Given the description of an element on the screen output the (x, y) to click on. 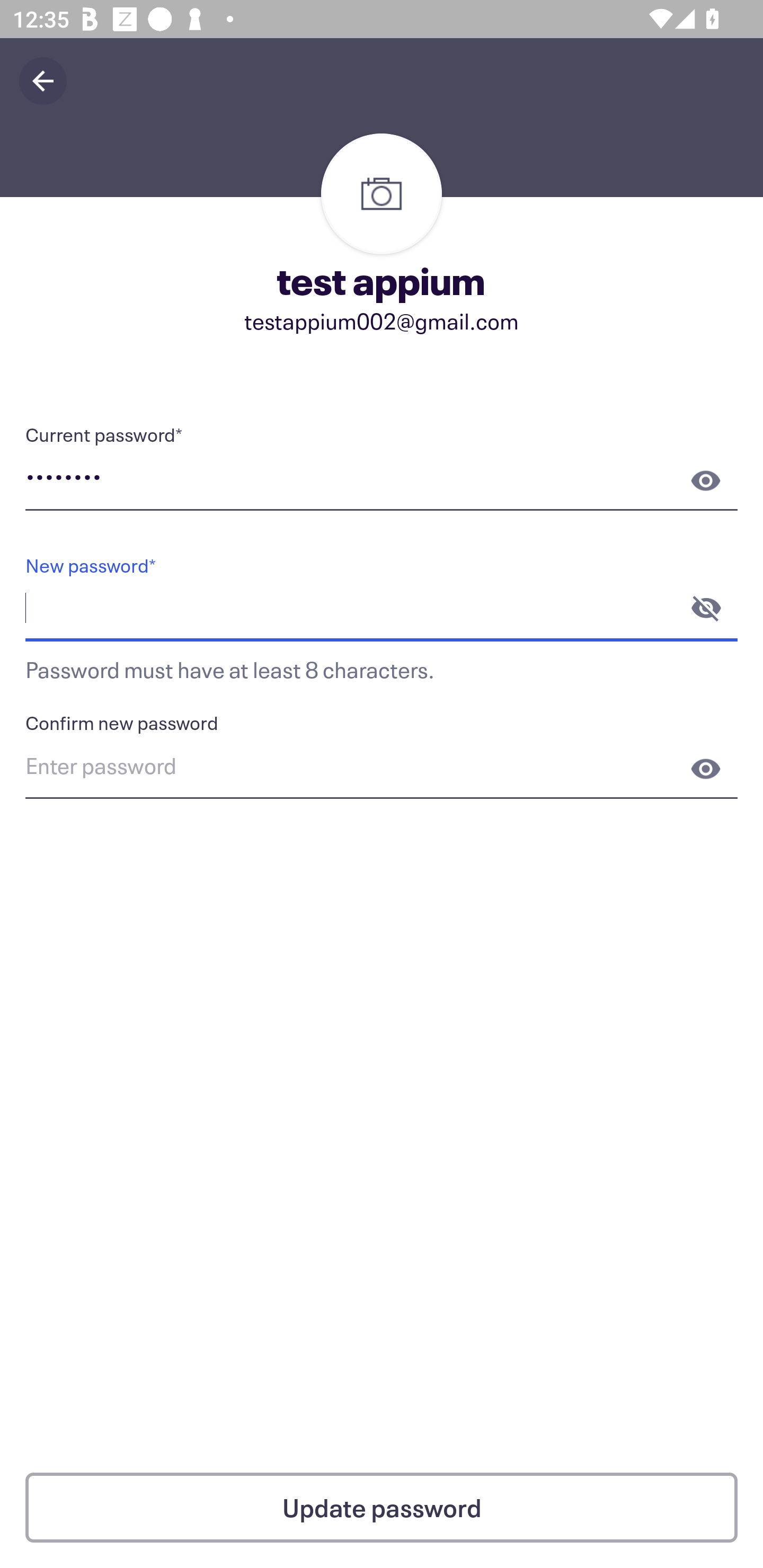
•••••••• (381, 480)
Show password (705, 480)
Enter password (381, 768)
Show password (705, 768)
Update password (381, 1507)
